Given the description of an element on the screen output the (x, y) to click on. 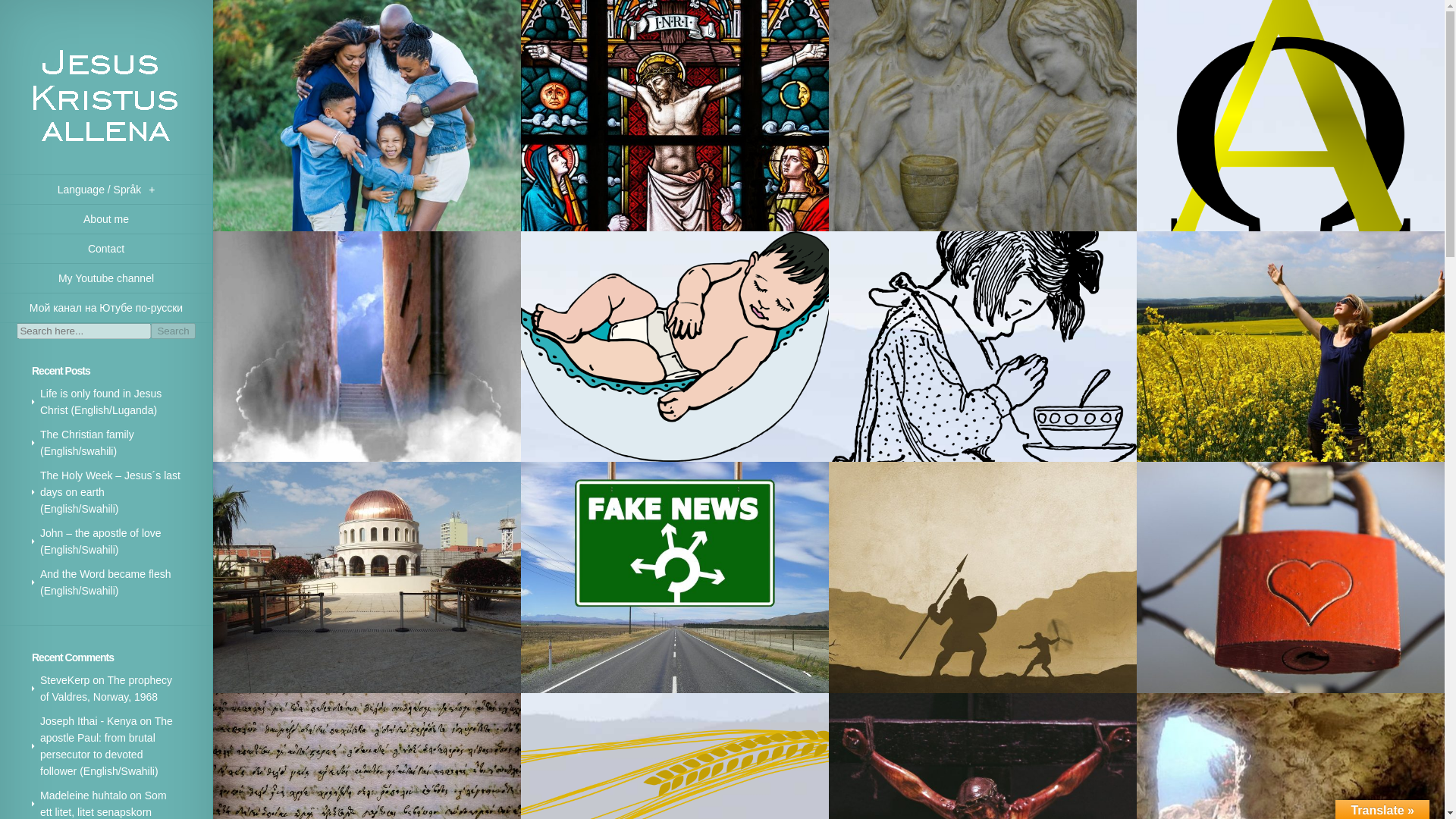
SteveKerp (64, 680)
Som ett litet, litet senapskorn (103, 803)
Search (173, 330)
The prophecy of Valdres, Norway, 1968 (105, 688)
Contact (106, 248)
My Youtube channel (106, 278)
Search (173, 330)
About me (106, 219)
Search (173, 330)
